Given the description of an element on the screen output the (x, y) to click on. 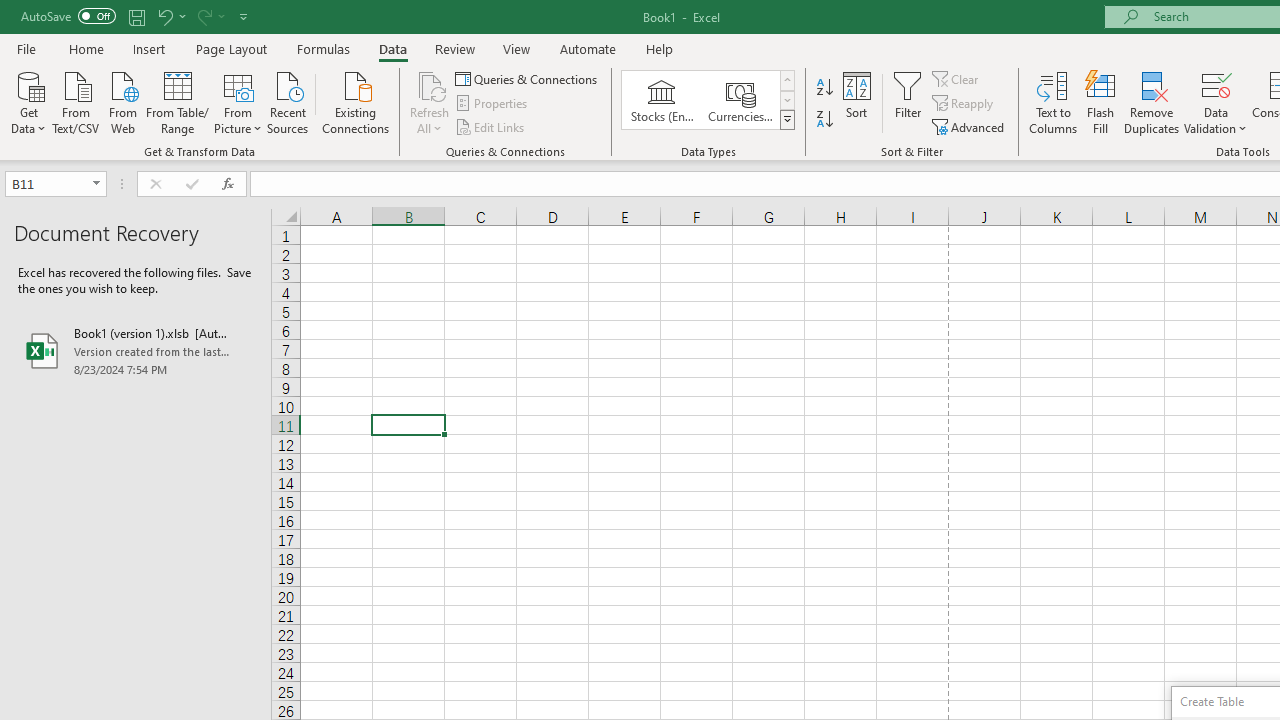
Data Types (786, 120)
Remove Duplicates (1151, 102)
From Picture (238, 101)
AutomationID: ConvertToLinkedEntity (708, 99)
Sort Z to A (824, 119)
Reapply (964, 103)
